Given the description of an element on the screen output the (x, y) to click on. 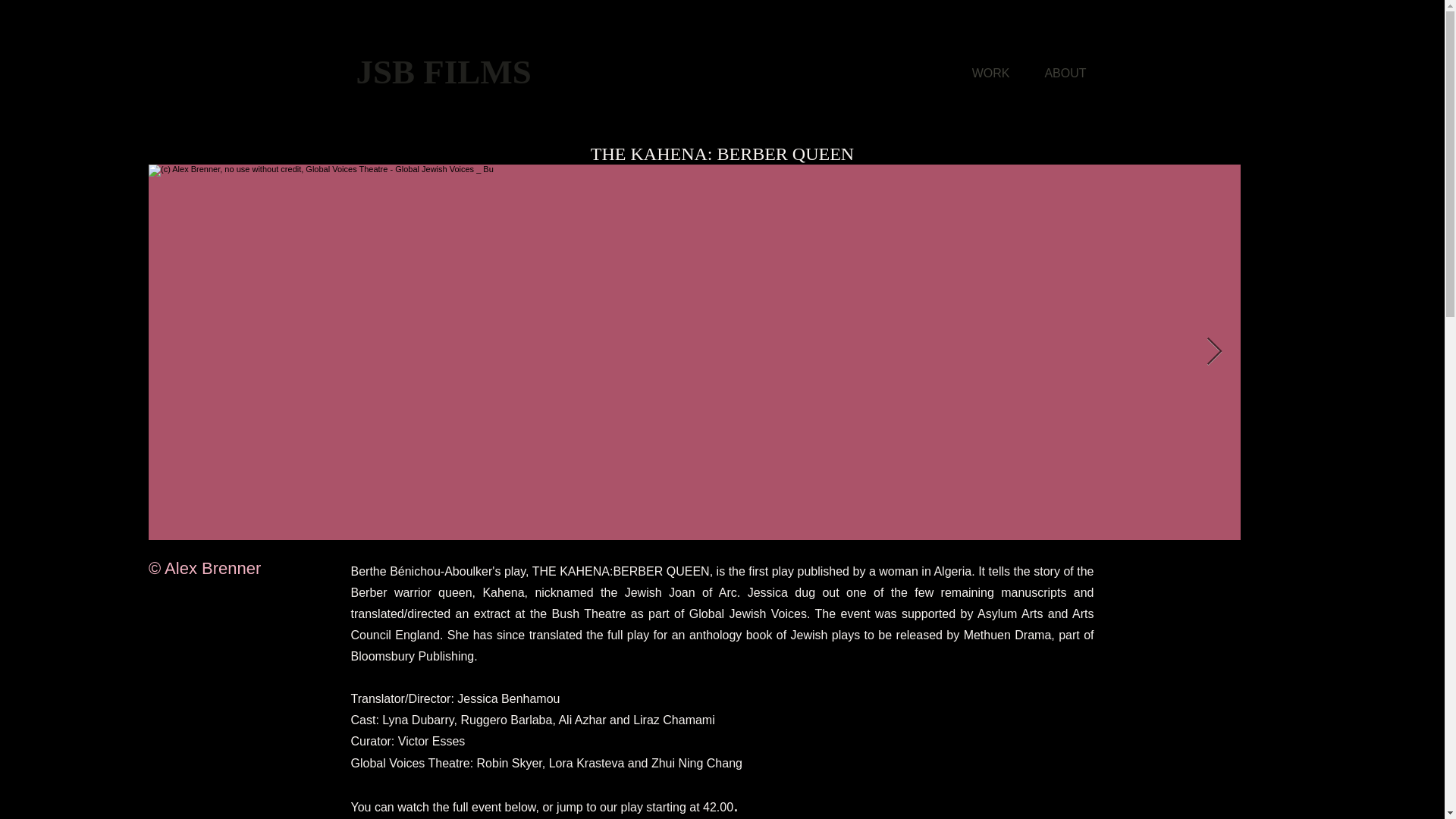
ABOUT (1055, 72)
WORK (979, 72)
JSB FILMS (443, 71)
